Given the description of an element on the screen output the (x, y) to click on. 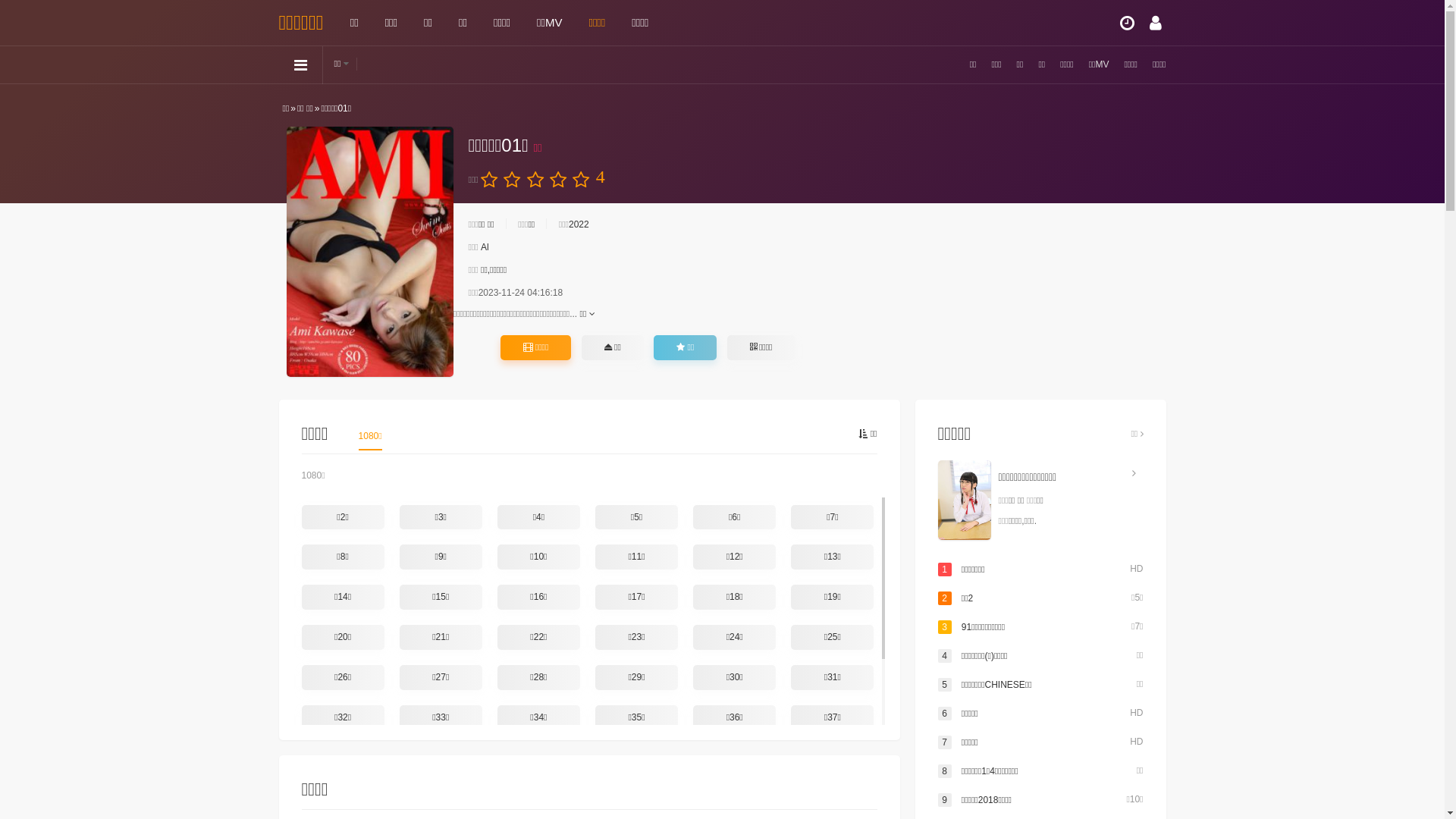
2022 Element type: text (578, 224)
Al Element type: text (484, 246)
